Given the description of an element on the screen output the (x, y) to click on. 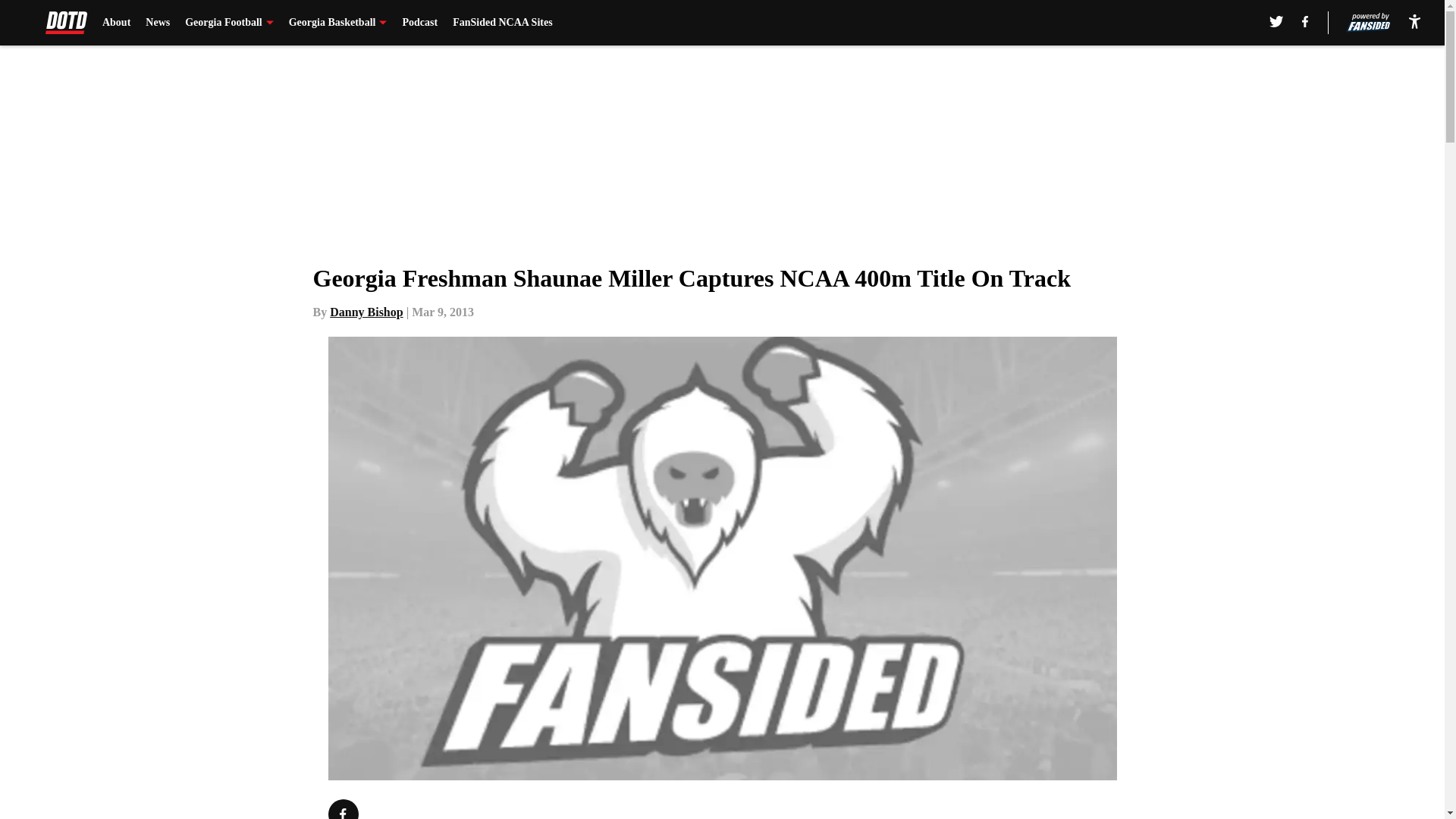
News (157, 22)
About (116, 22)
FanSided NCAA Sites (501, 22)
Danny Bishop (366, 311)
Podcast (419, 22)
